Given the description of an element on the screen output the (x, y) to click on. 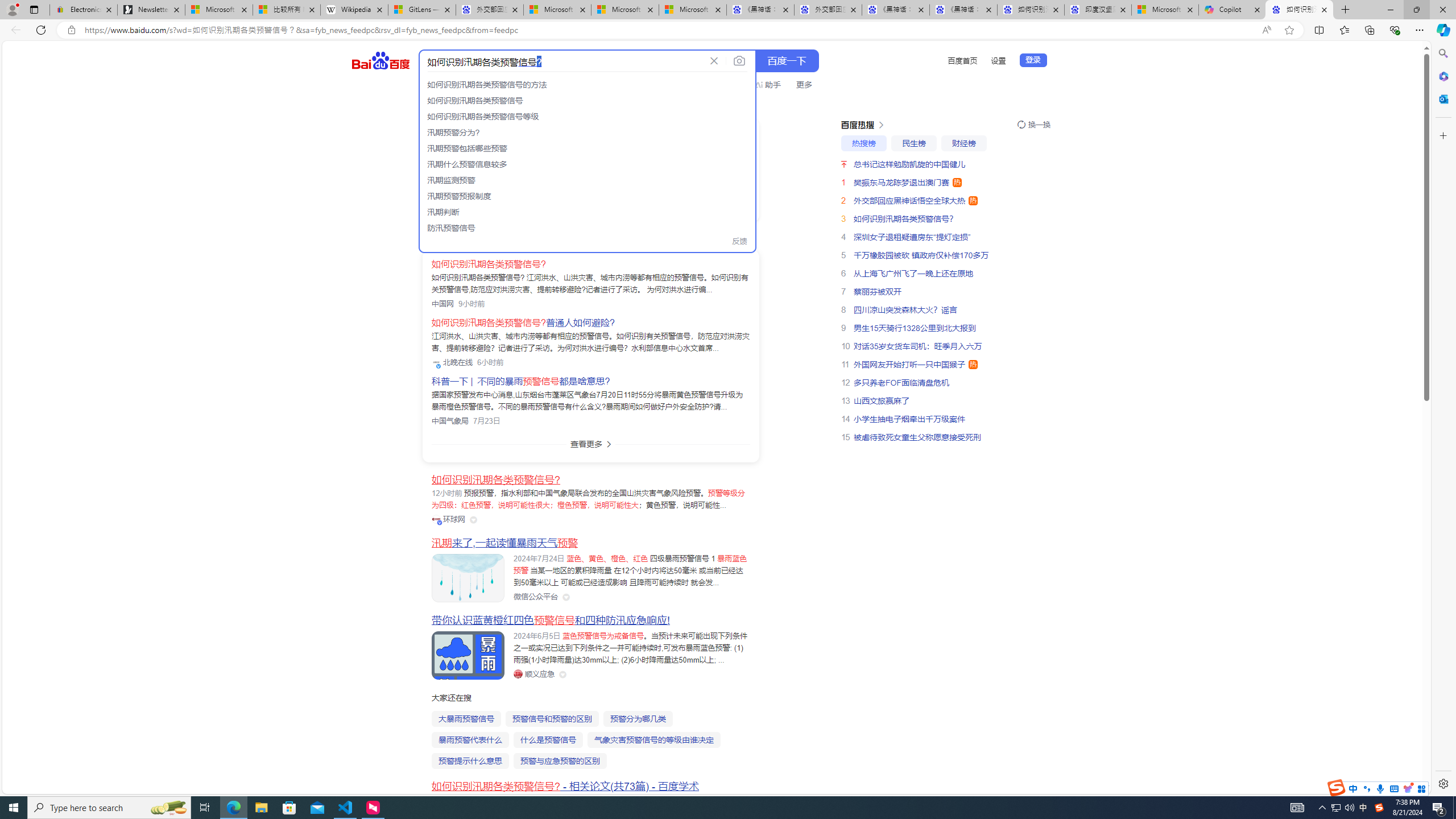
AutomationID: kw (562, 61)
Electronics, Cars, Fashion, Collectibles & More | eBay (83, 9)
